Given the description of an element on the screen output the (x, y) to click on. 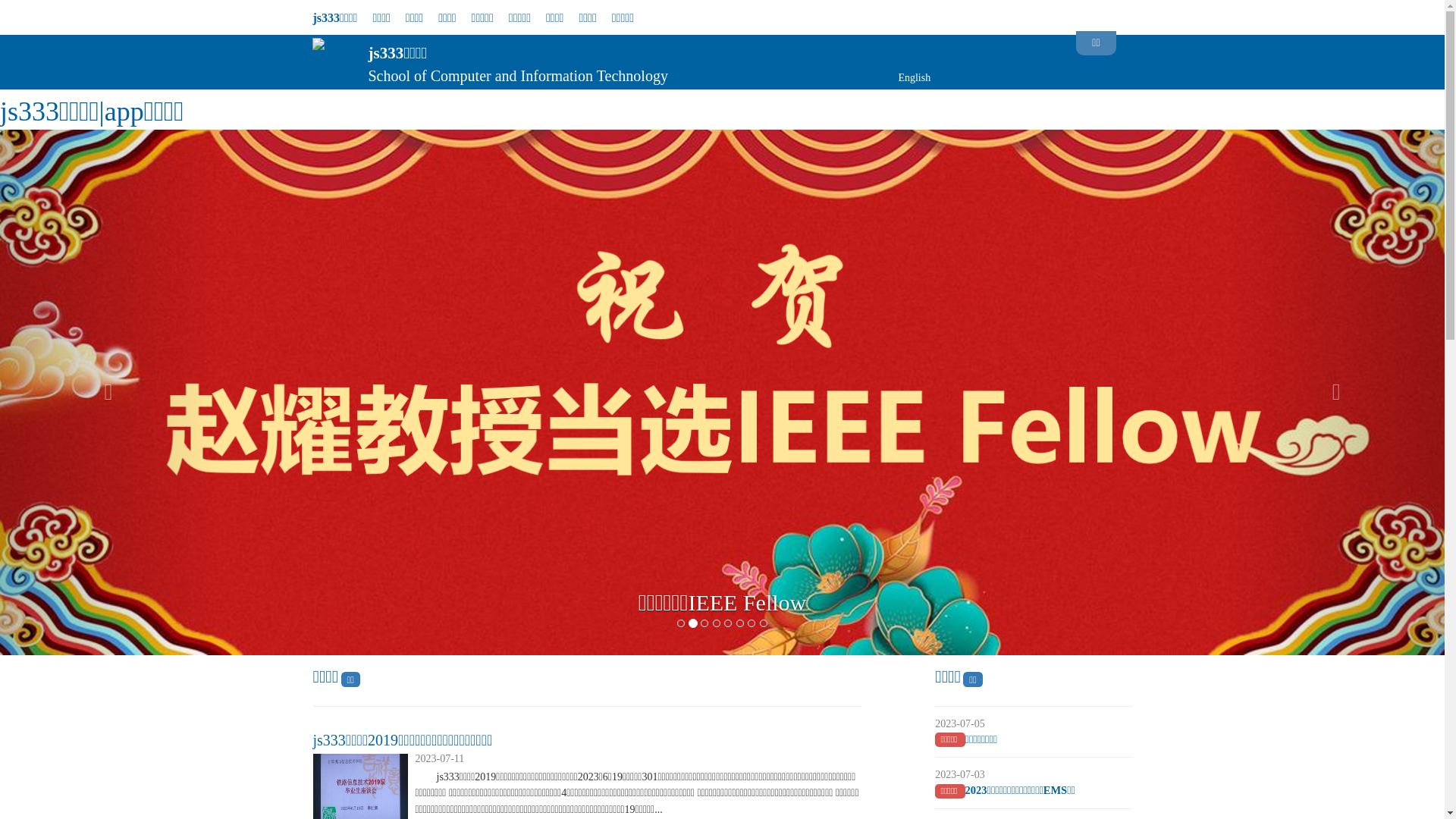
Next Element type: text (1335, 135)
Previous Element type: text (108, 135)
English Element type: text (913, 76)
